Given the description of an element on the screen output the (x, y) to click on. 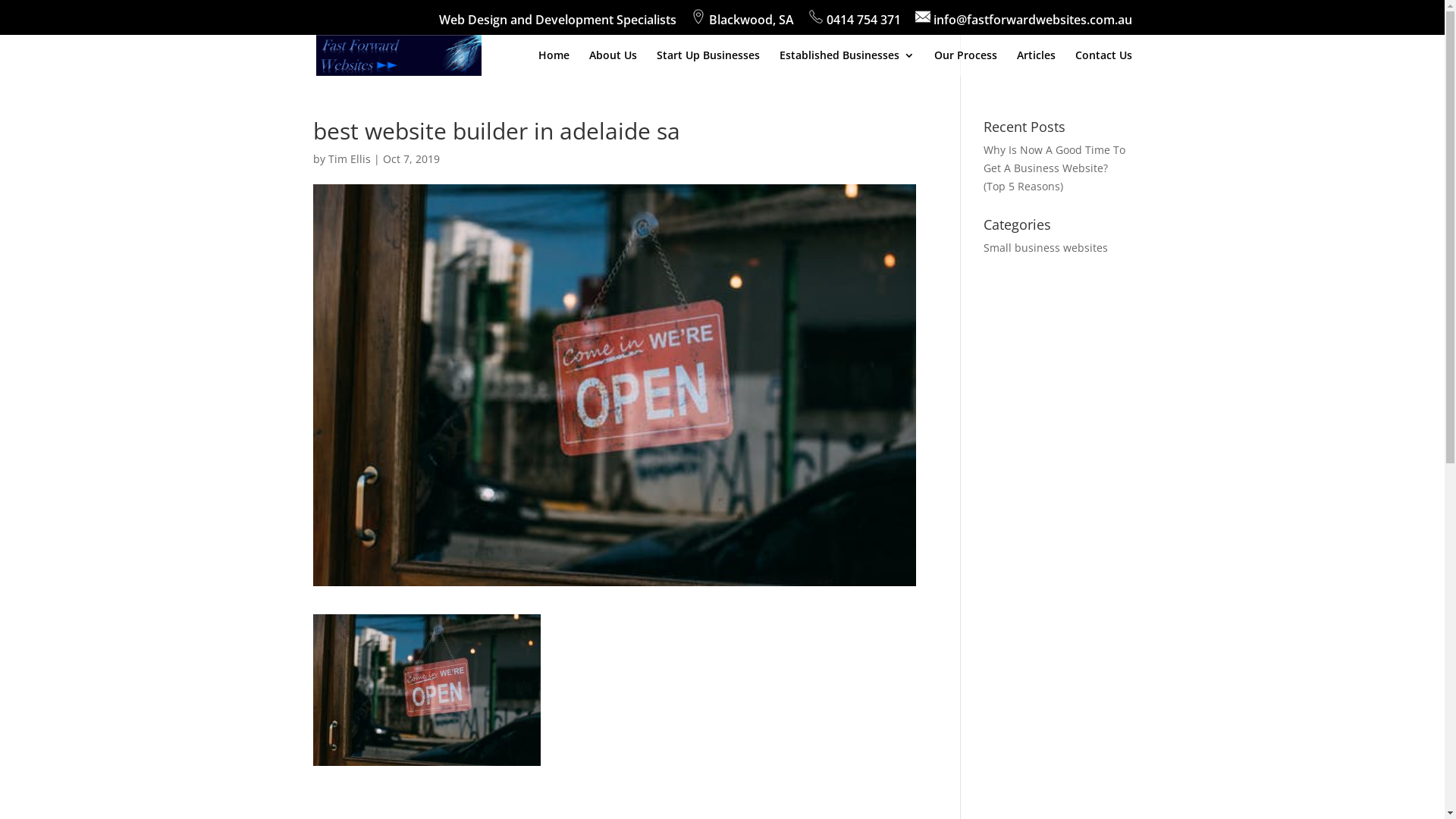
info@fastforwardwebsites.com.au Element type: text (1022, 21)
Tim Ellis Element type: text (348, 158)
Start Up Businesses Element type: text (707, 62)
Established Businesses Element type: text (846, 62)
Articles Element type: text (1035, 62)
Home Element type: text (553, 62)
Web Design and Development Specialists Element type: text (556, 23)
Contact Us Element type: text (1103, 62)
Small business websites Element type: text (1045, 247)
About Us Element type: text (612, 62)
Our Process Element type: text (965, 62)
Blackwood, SA Element type: text (741, 21)
0414 754 371 Element type: text (854, 21)
